Given the description of an element on the screen output the (x, y) to click on. 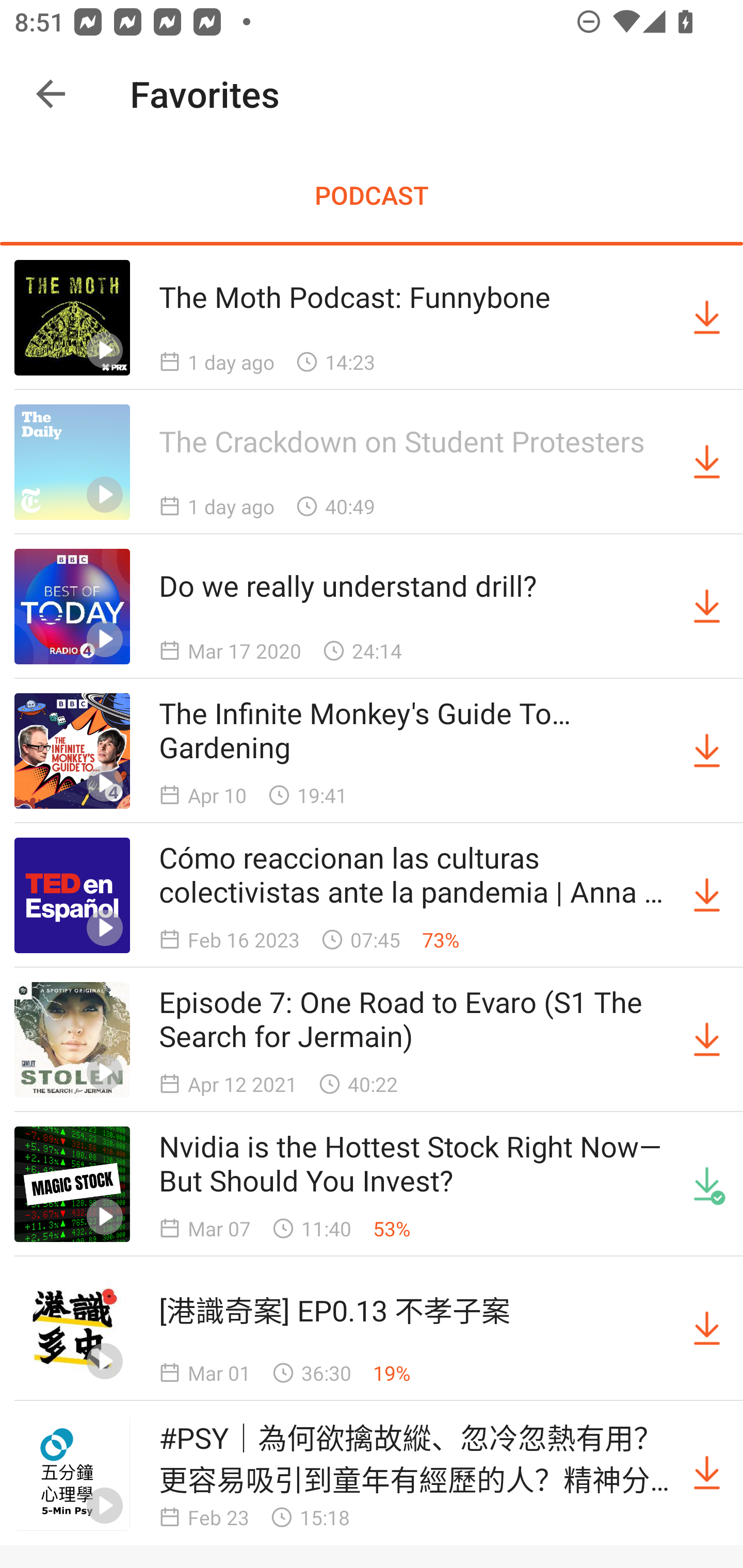
Navigate up (50, 93)
PODCAST (371, 195)
Download (706, 317)
Download (706, 462)
Download (706, 606)
Download (706, 751)
Download (706, 895)
Download (706, 1039)
Downloaded (706, 1183)
Download (706, 1328)
Download (706, 1472)
